Given the description of an element on the screen output the (x, y) to click on. 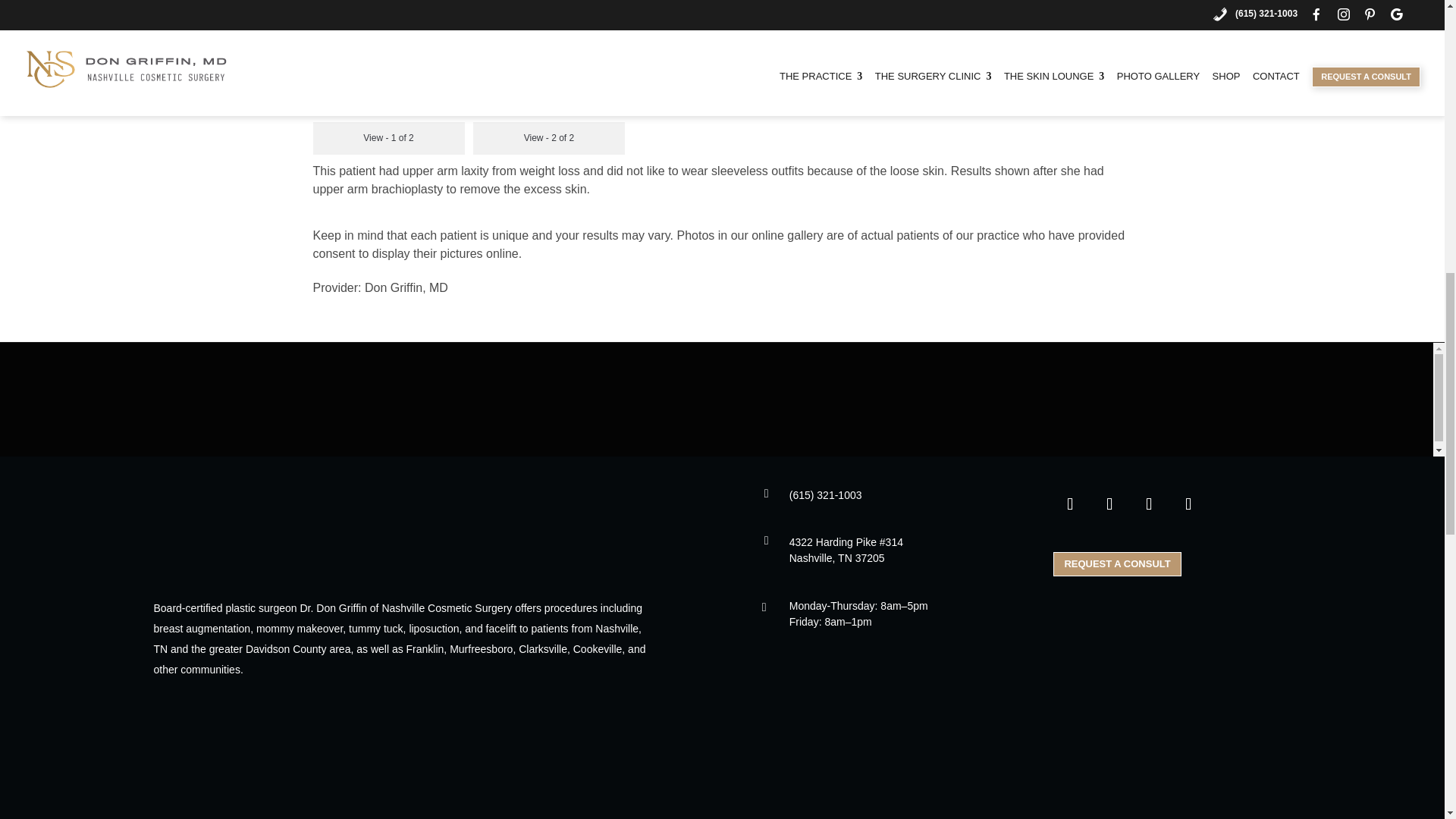
Nashville Cosmetic Center-logo-wht (365, 527)
creds2 (722, 781)
Follow on Pinterest (1149, 503)
Follow on Instagram (1109, 503)
Follow on Facebook (1069, 503)
Follow on Google (1188, 503)
